Given the description of an element on the screen output the (x, y) to click on. 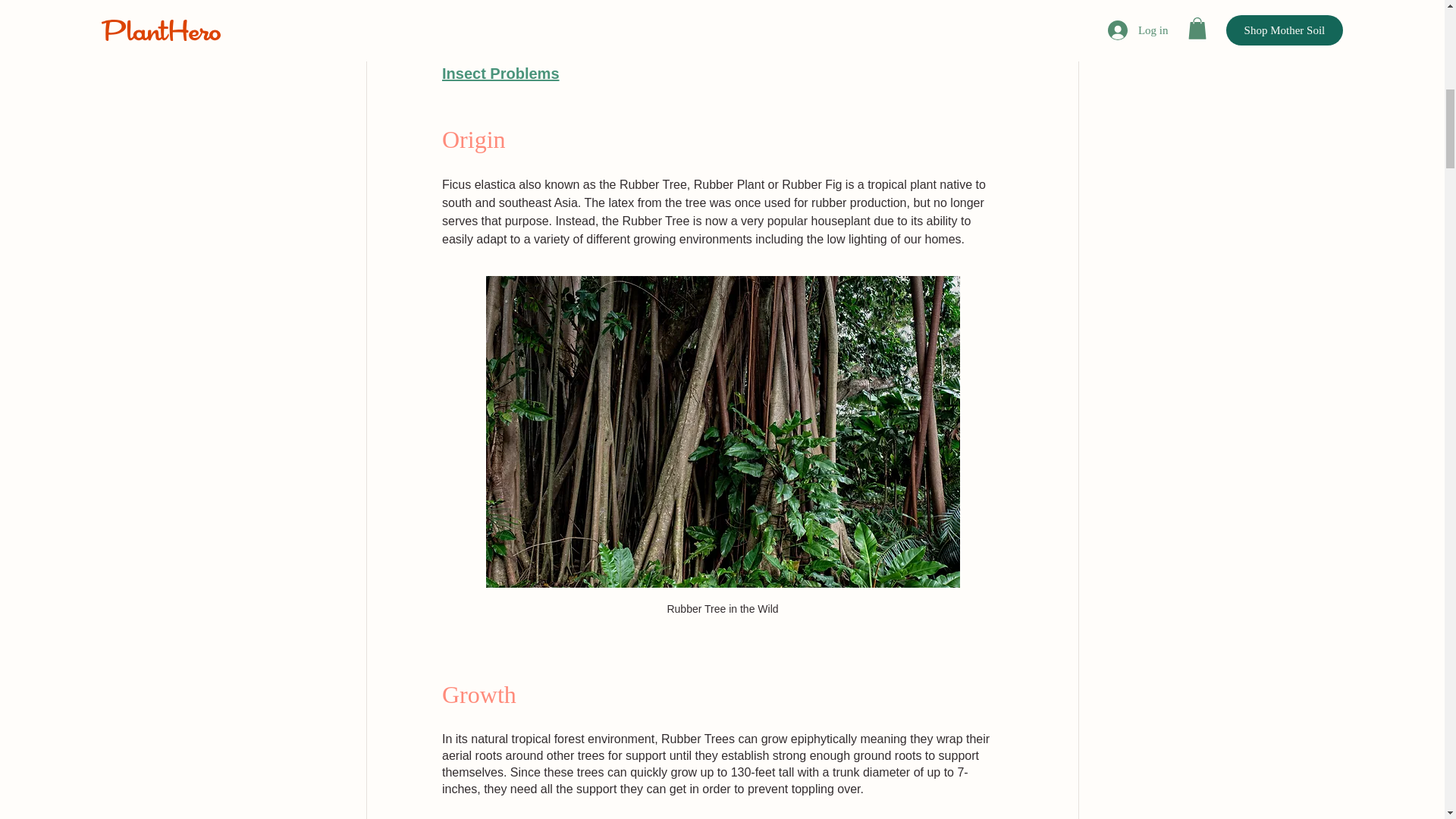
Watering (473, 6)
Insect Problems (500, 74)
Fertilizing (476, 29)
